Given the description of an element on the screen output the (x, y) to click on. 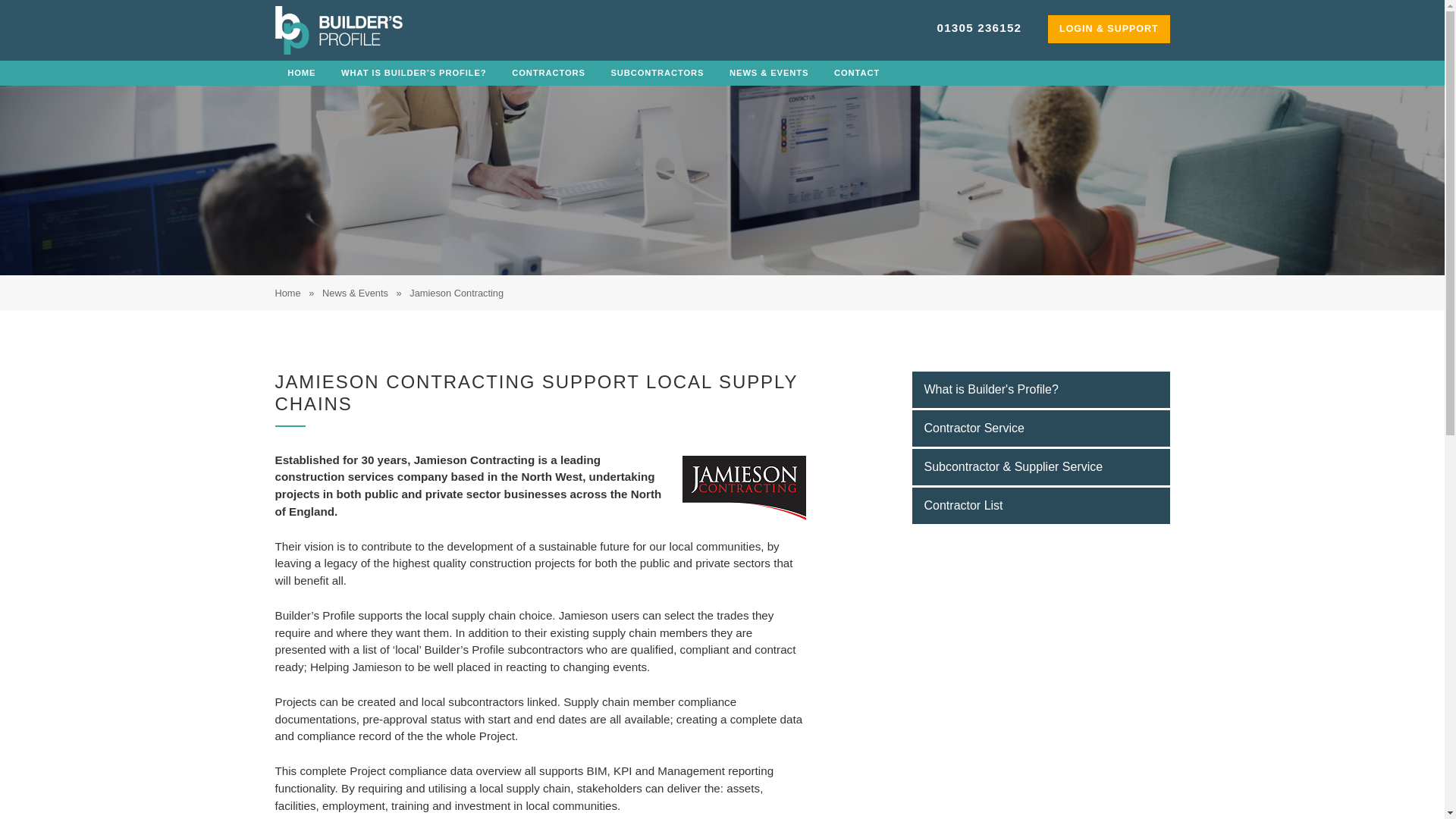
Contractor List (1040, 505)
Home (287, 292)
SUBCONTRACTORS (657, 72)
CONTACT (856, 72)
HOME (302, 72)
Contractor Service (1040, 428)
CONTRACTORS (547, 72)
What is Builder's Profile? (1040, 389)
